Given the description of an element on the screen output the (x, y) to click on. 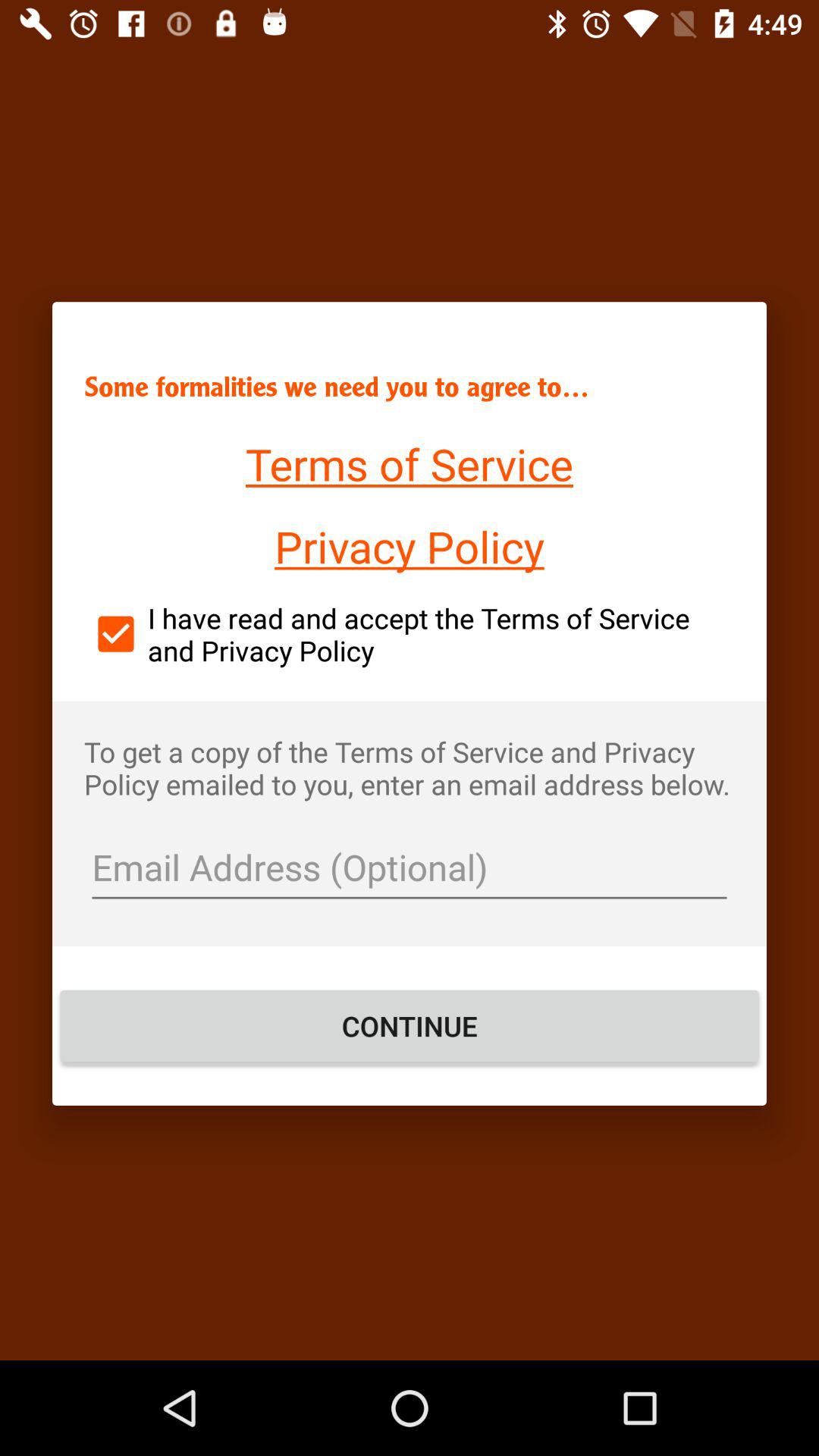
put in email address (409, 869)
